Given the description of an element on the screen output the (x, y) to click on. 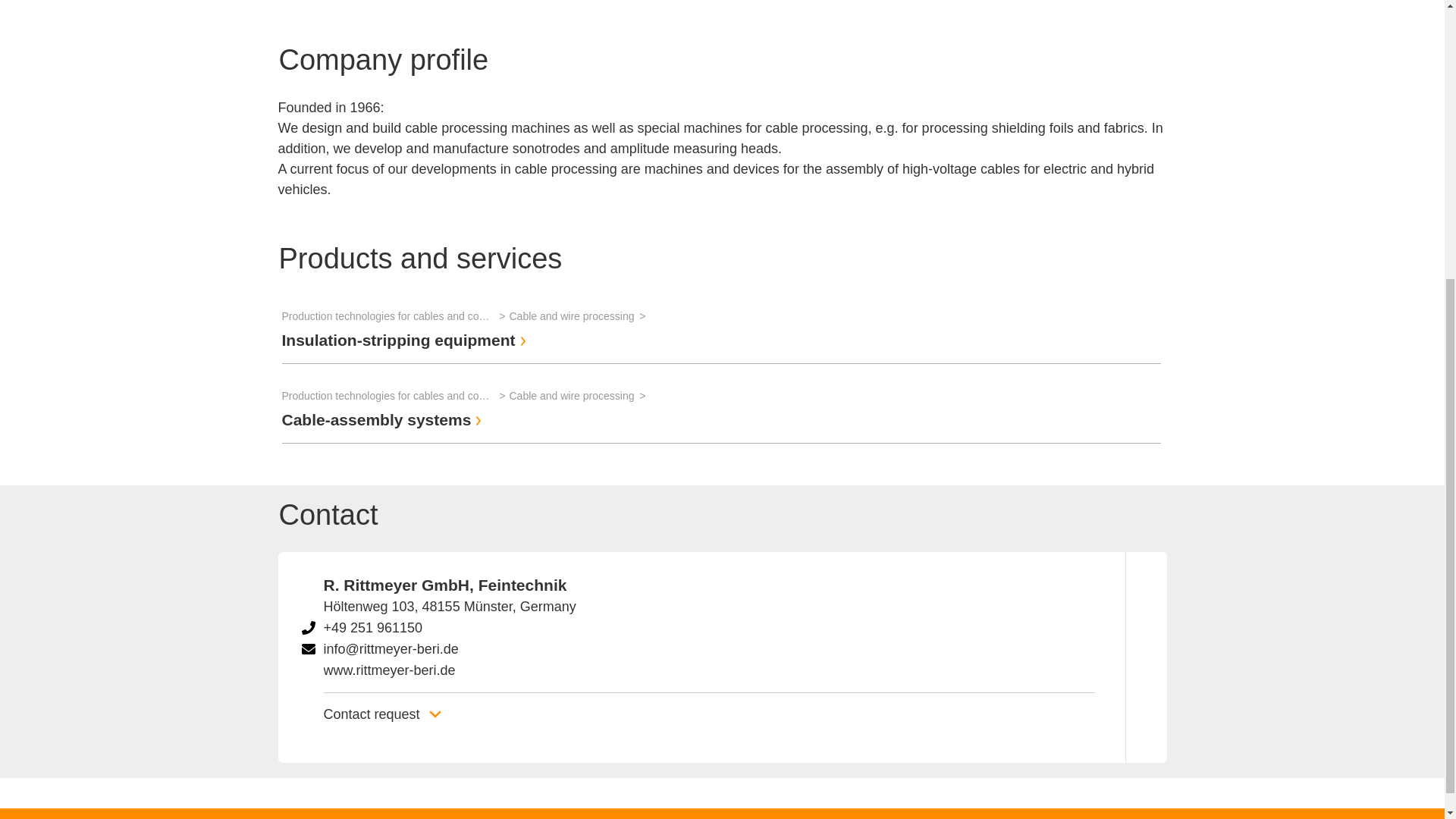
Cable-assembly systems (384, 419)
Production technologies for cables and connectors (395, 316)
Insulation-stripping equipment (406, 339)
Cable and wire processing (579, 395)
Production technologies for cables and connectors (395, 395)
Cable and wire processing (579, 316)
www.rittmeyer-beri.de (388, 670)
